Given the description of an element on the screen output the (x, y) to click on. 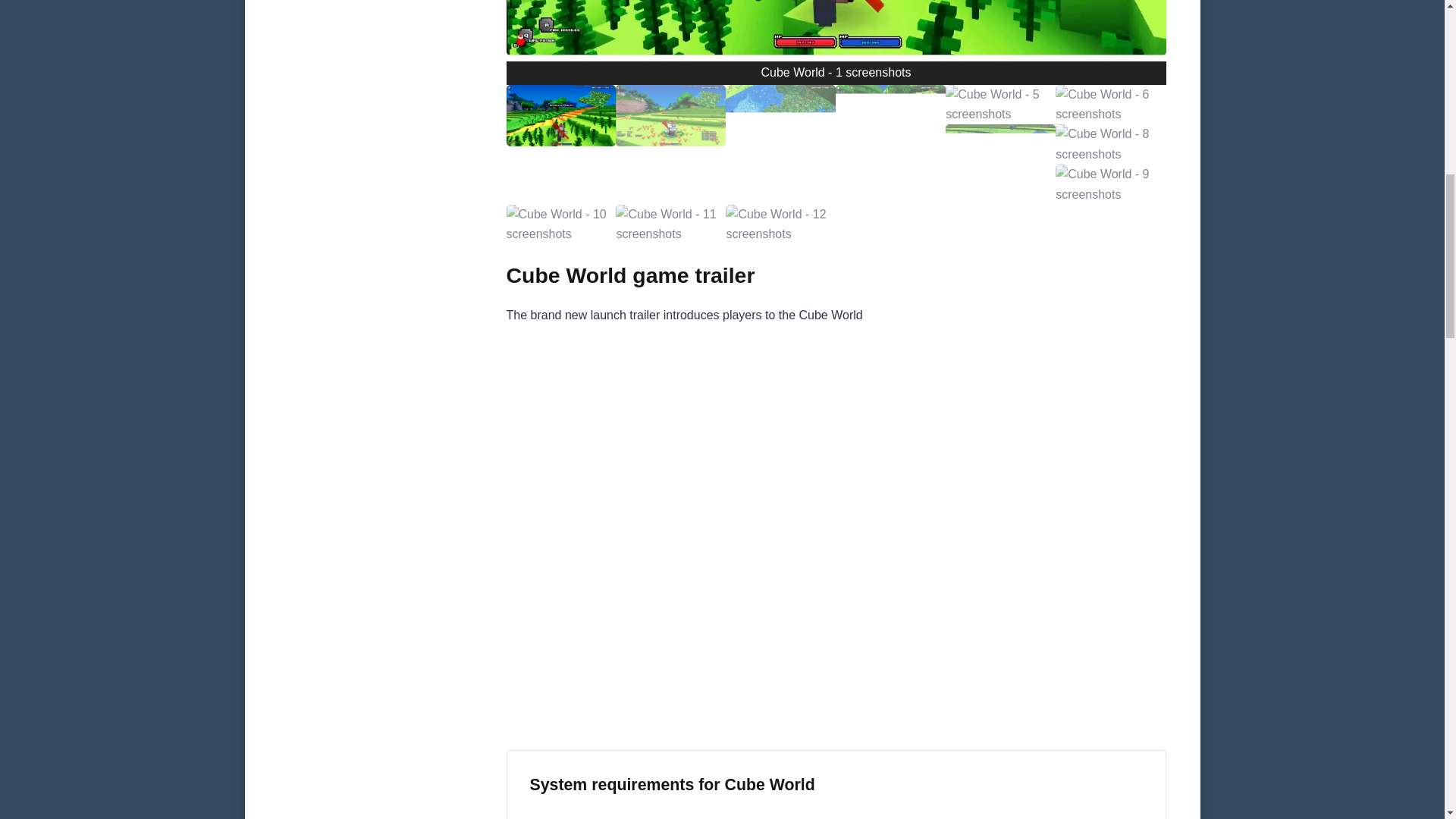
Windows (560, 813)
Mac OS X (624, 813)
